Given the description of an element on the screen output the (x, y) to click on. 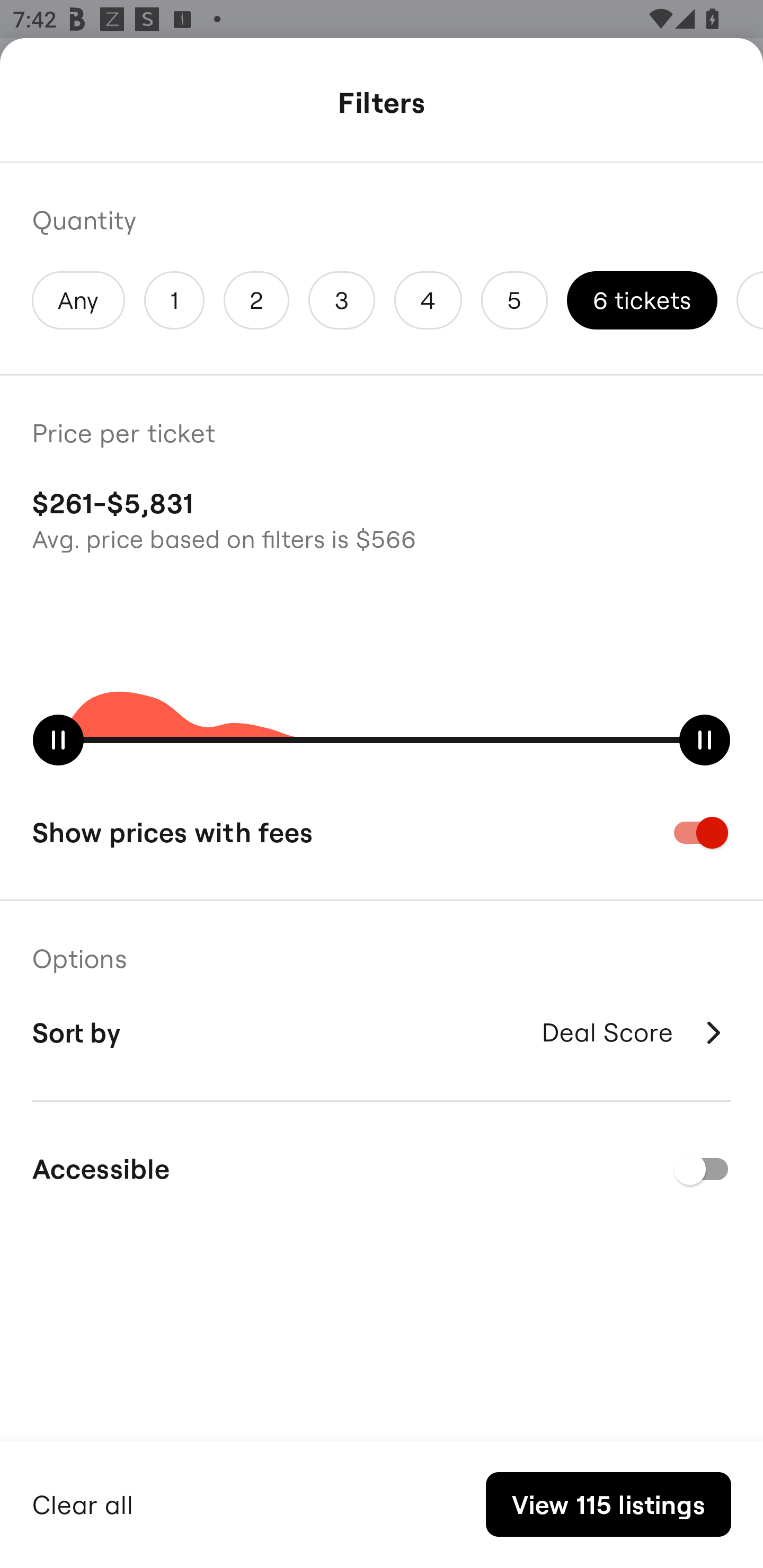
Any (78, 300)
1 (173, 300)
2 (256, 300)
3 (341, 300)
4 (427, 300)
5 (514, 300)
6 tickets (641, 300)
$261-$5,831 Avg. price based on filters is $566 (381, 518)
Show prices with fees (381, 832)
Sort by Deal Score (381, 1032)
Accessible (381, 1168)
Clear all (83, 1502)
View 115 listings (608, 1504)
